Given the description of an element on the screen output the (x, y) to click on. 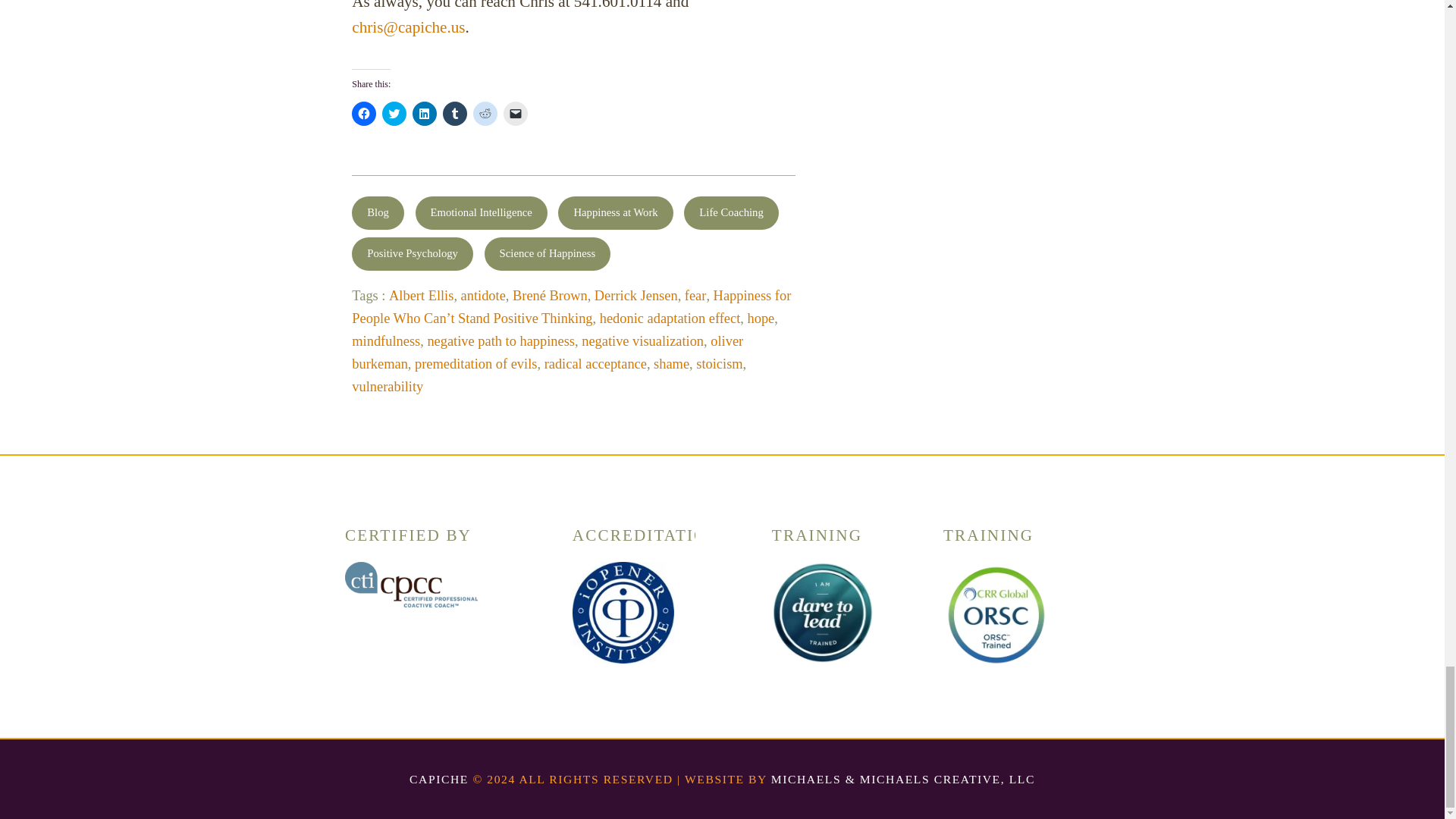
Email Chris Cook (408, 27)
